Given the description of an element on the screen output the (x, y) to click on. 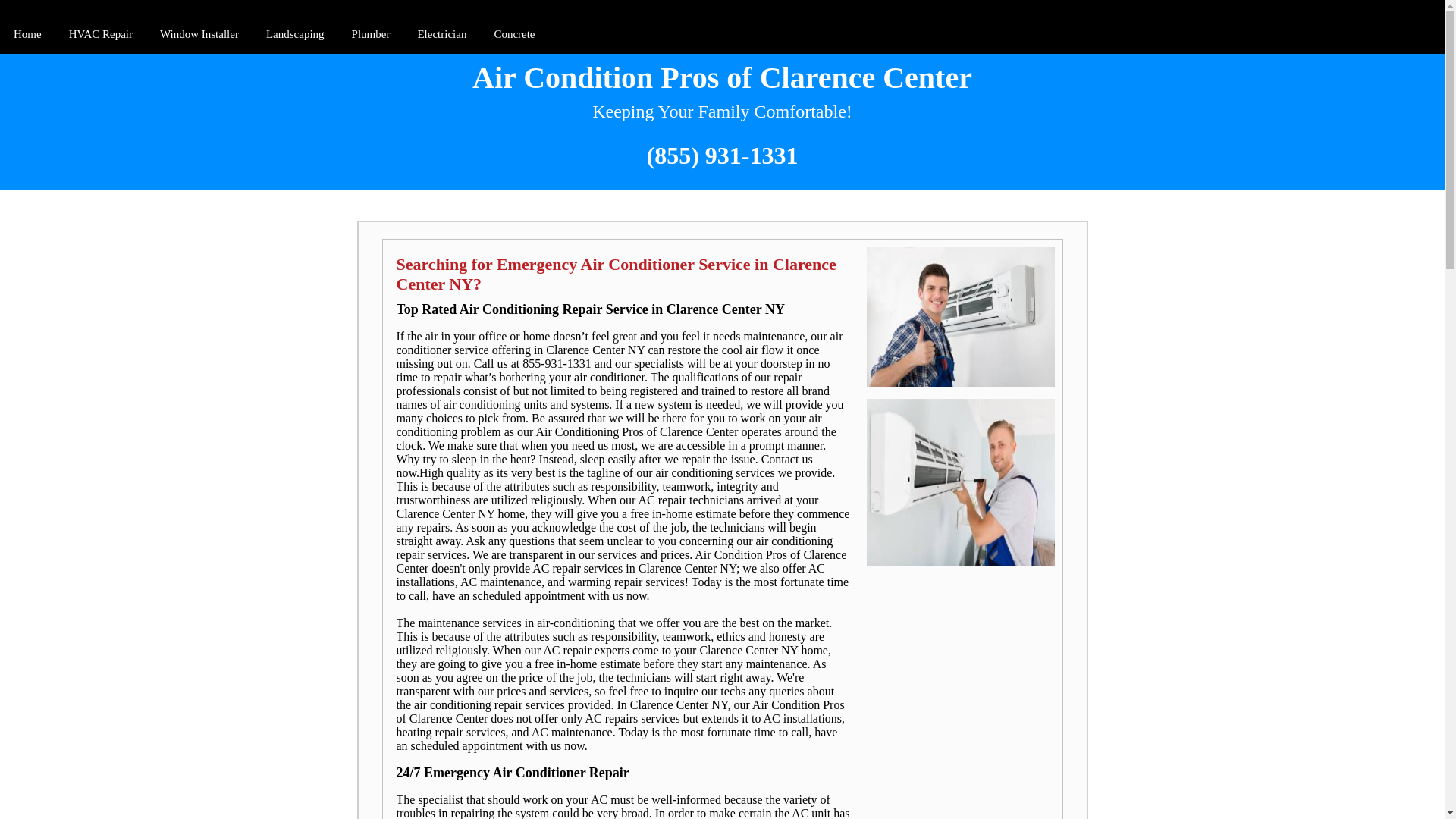
Plumber (370, 34)
Concrete (513, 34)
HVAC Repair (100, 34)
Electrician (441, 34)
Landscaping (295, 34)
Air Condition Pros of Clarence Center (722, 77)
Window Installer (199, 34)
Home (27, 34)
